Given the description of an element on the screen output the (x, y) to click on. 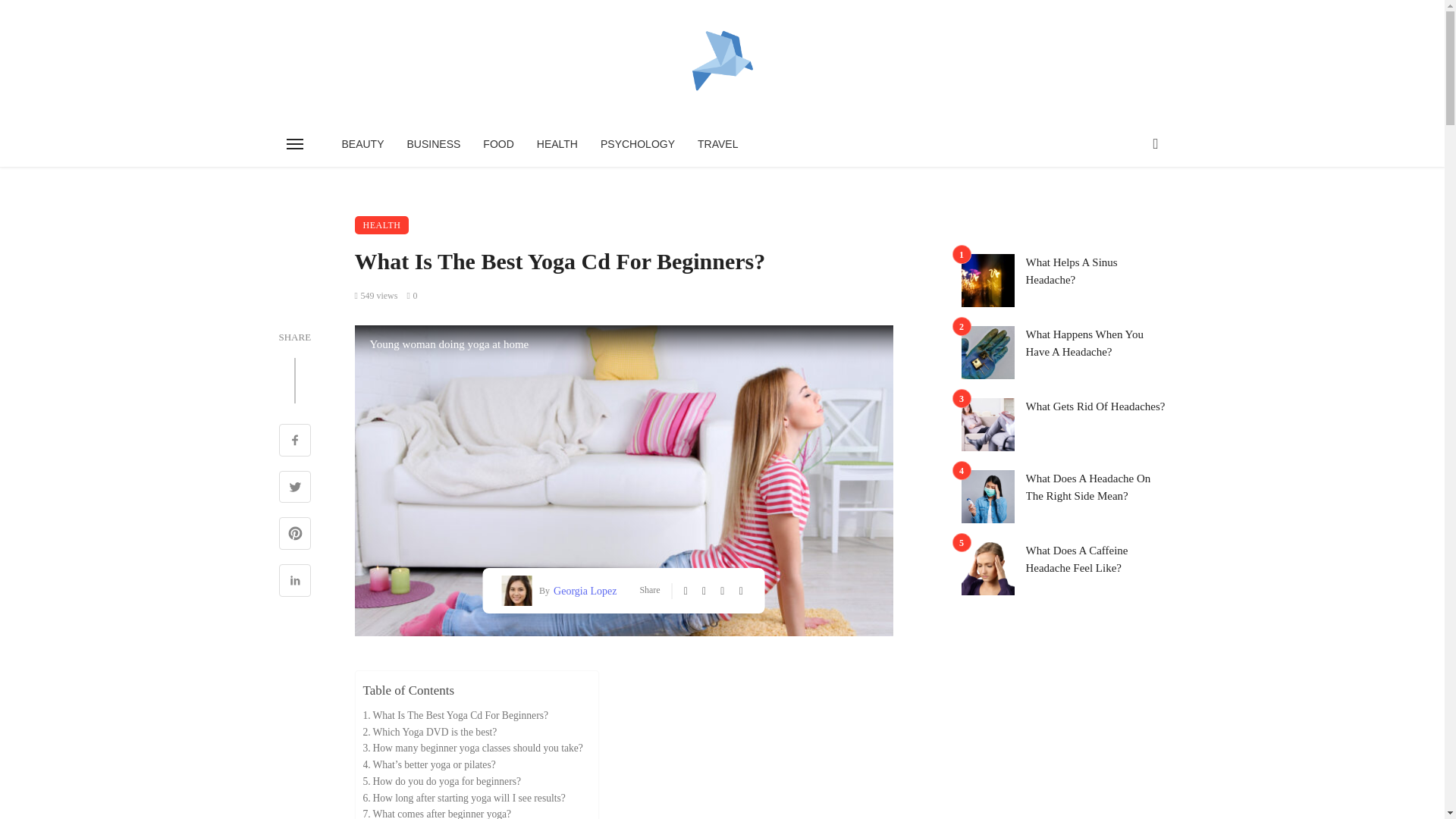
HEALTH (557, 144)
Share on Twitter (295, 488)
How many beginner yoga classes should you take? (472, 748)
0 (411, 295)
0 Comments (411, 295)
Which Yoga DVD is the best? (429, 731)
Share on Pinterest (295, 534)
How many beginner yoga classes should you take? (472, 748)
HEALTH (382, 225)
What Is The Best Yoga Cd For Beginners? (455, 715)
